Given the description of an element on the screen output the (x, y) to click on. 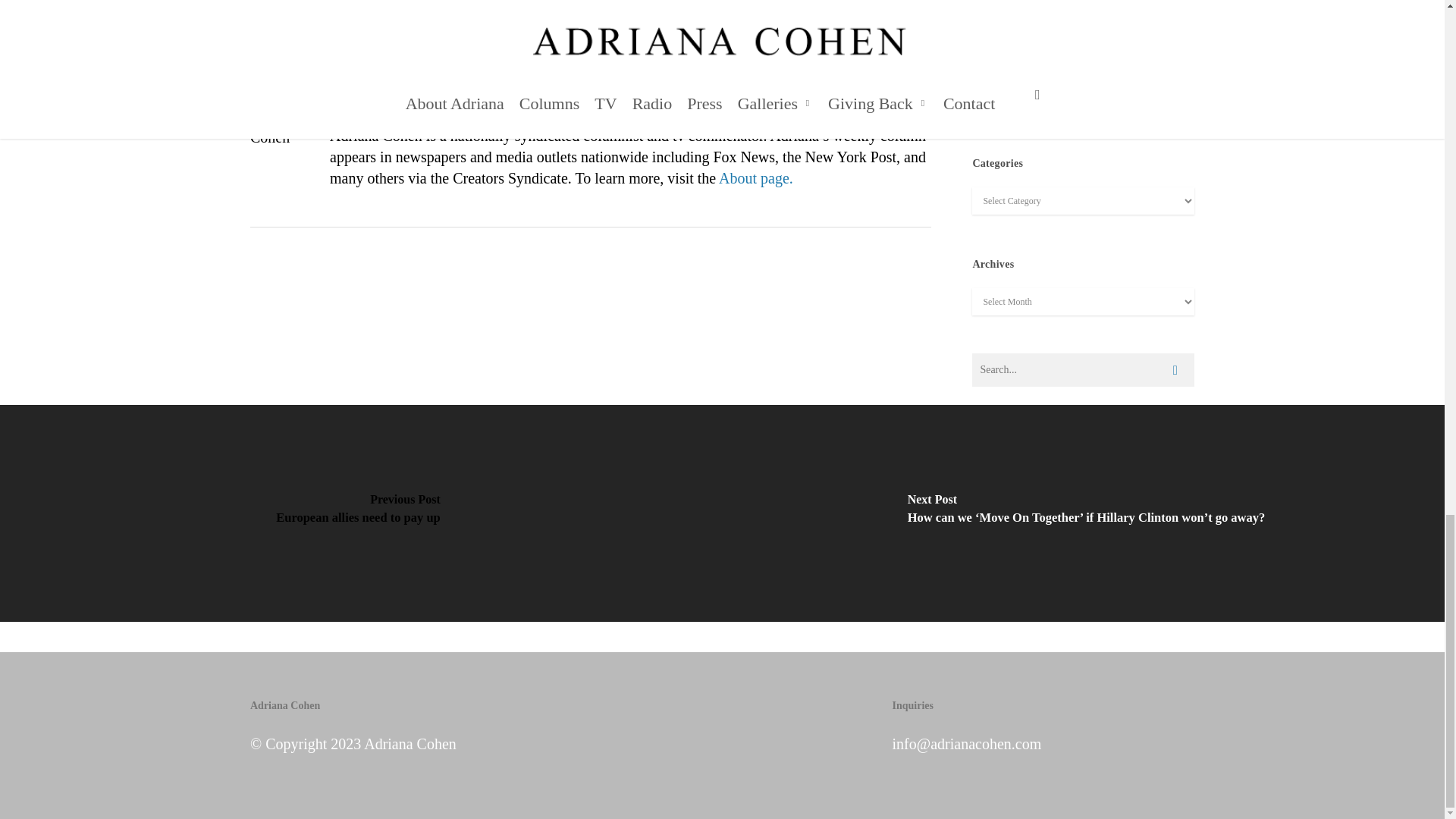
About page. (756, 177)
Search for: (1082, 369)
Donald Trump (337, 11)
